Given the description of an element on the screen output the (x, y) to click on. 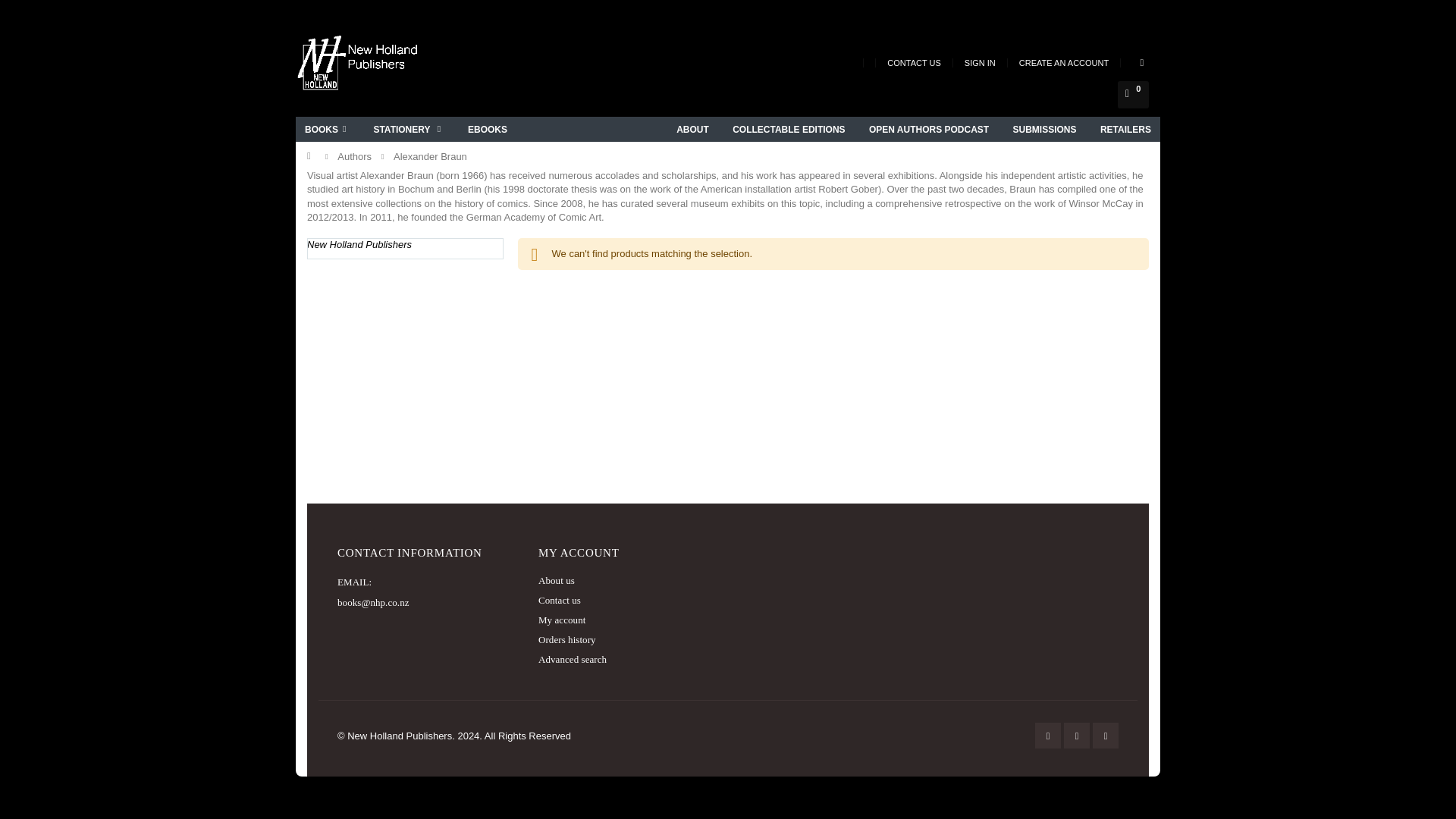
BOOKS (328, 129)
SIGN IN (980, 62)
RETAILERS (1125, 129)
Stationery  (409, 129)
OPEN AUTHORS PODCAST (928, 129)
ABOUT (691, 129)
STATIONERY (409, 129)
SUBMISSIONS (1045, 129)
CONTACT US (914, 62)
EBOOKS (487, 129)
